Given the description of an element on the screen output the (x, y) to click on. 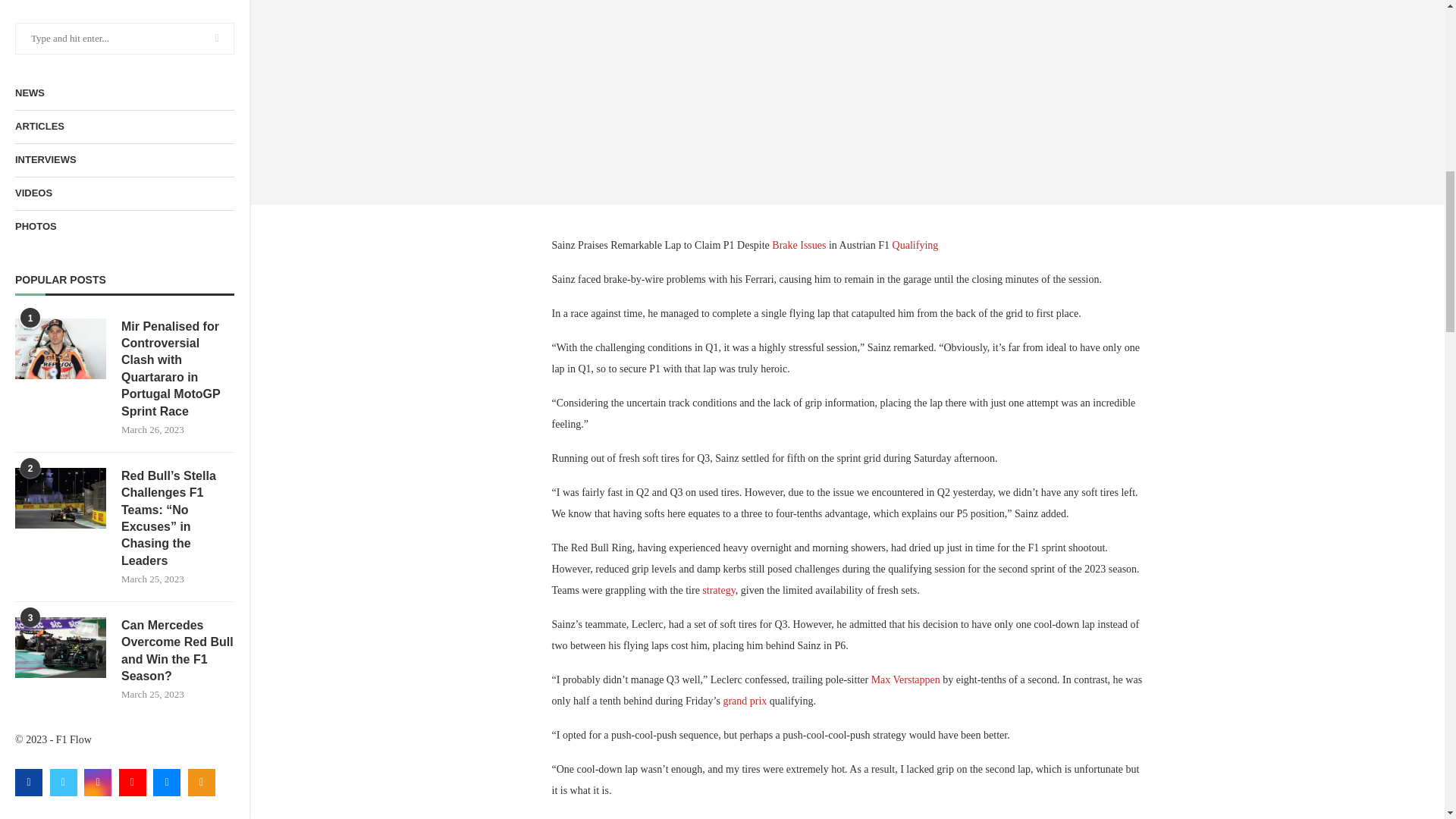
grand prix (744, 700)
Qualifying (915, 244)
strategy (718, 590)
Max Verstappen (905, 679)
Brake Issues (798, 244)
